Given the description of an element on the screen output the (x, y) to click on. 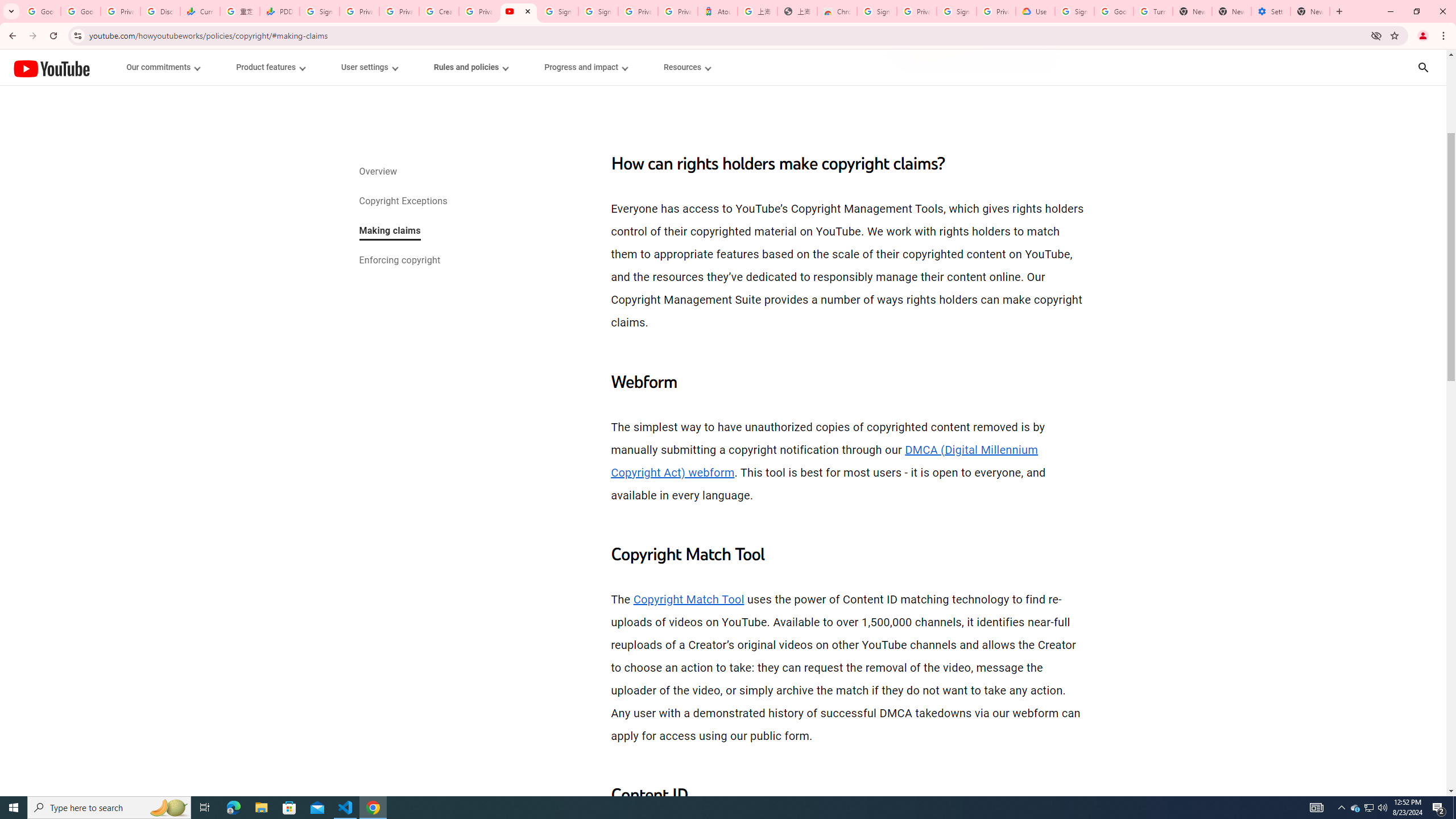
Back (10, 35)
System (6, 6)
Close (527, 11)
Settings - System (1270, 11)
Making claims (389, 231)
Search (1423, 67)
Third-party cookies blocked (1376, 35)
Rules and policies menupopup (470, 67)
DMCA (Digital Millennium Copyright Act) webform (824, 460)
Resources menupopup (686, 67)
